Given the description of an element on the screen output the (x, y) to click on. 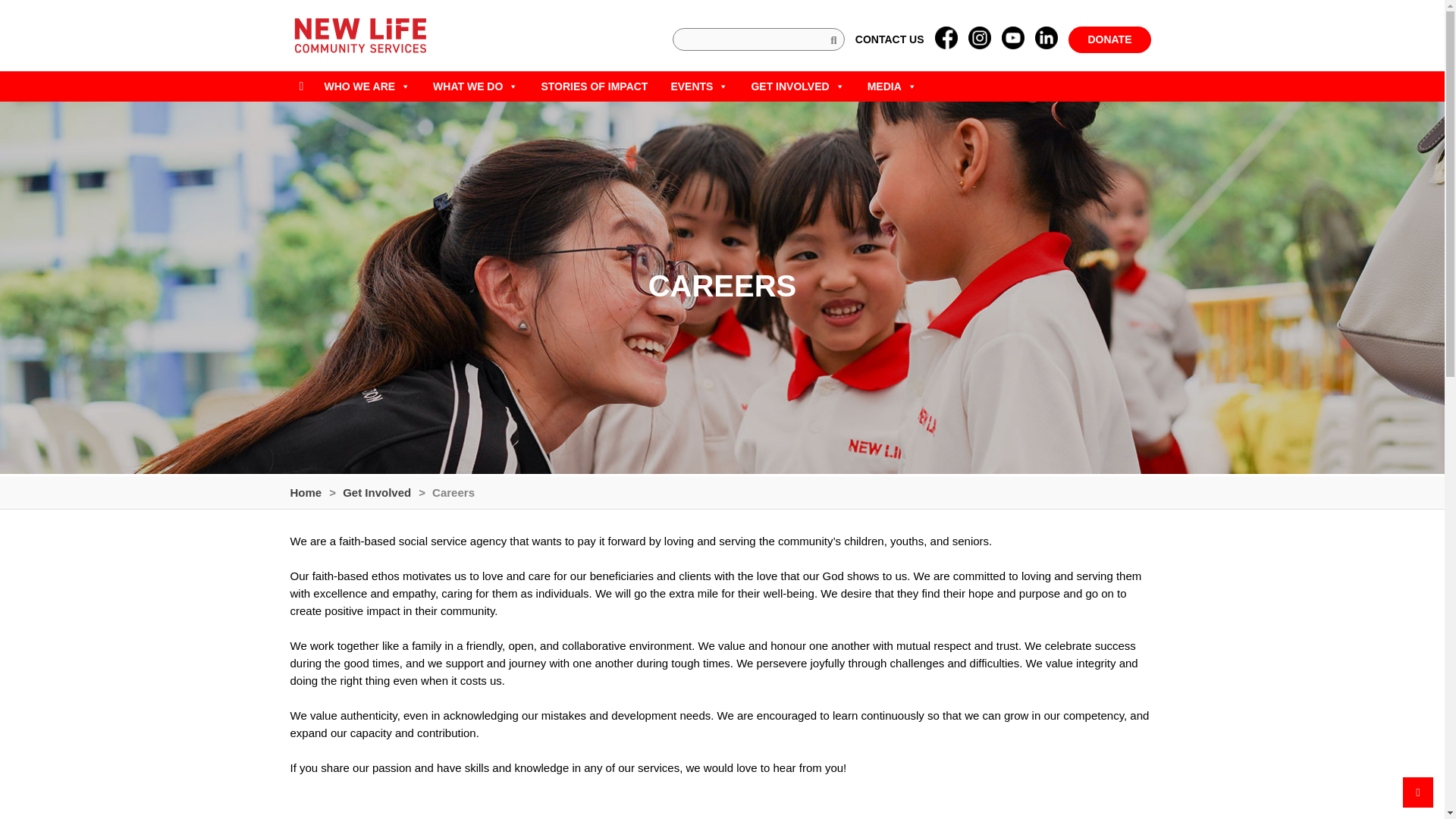
CONTACT US (890, 39)
GET INVOLVED (797, 86)
Youtube (1013, 38)
Instagram (979, 38)
STORIES OF IMPACT (594, 86)
WHO WE ARE (367, 86)
LinkedIn (1046, 38)
WHAT WE DO (475, 86)
DONATE (1109, 39)
EVENTS (699, 86)
Facebook (946, 38)
